Given the description of an element on the screen output the (x, y) to click on. 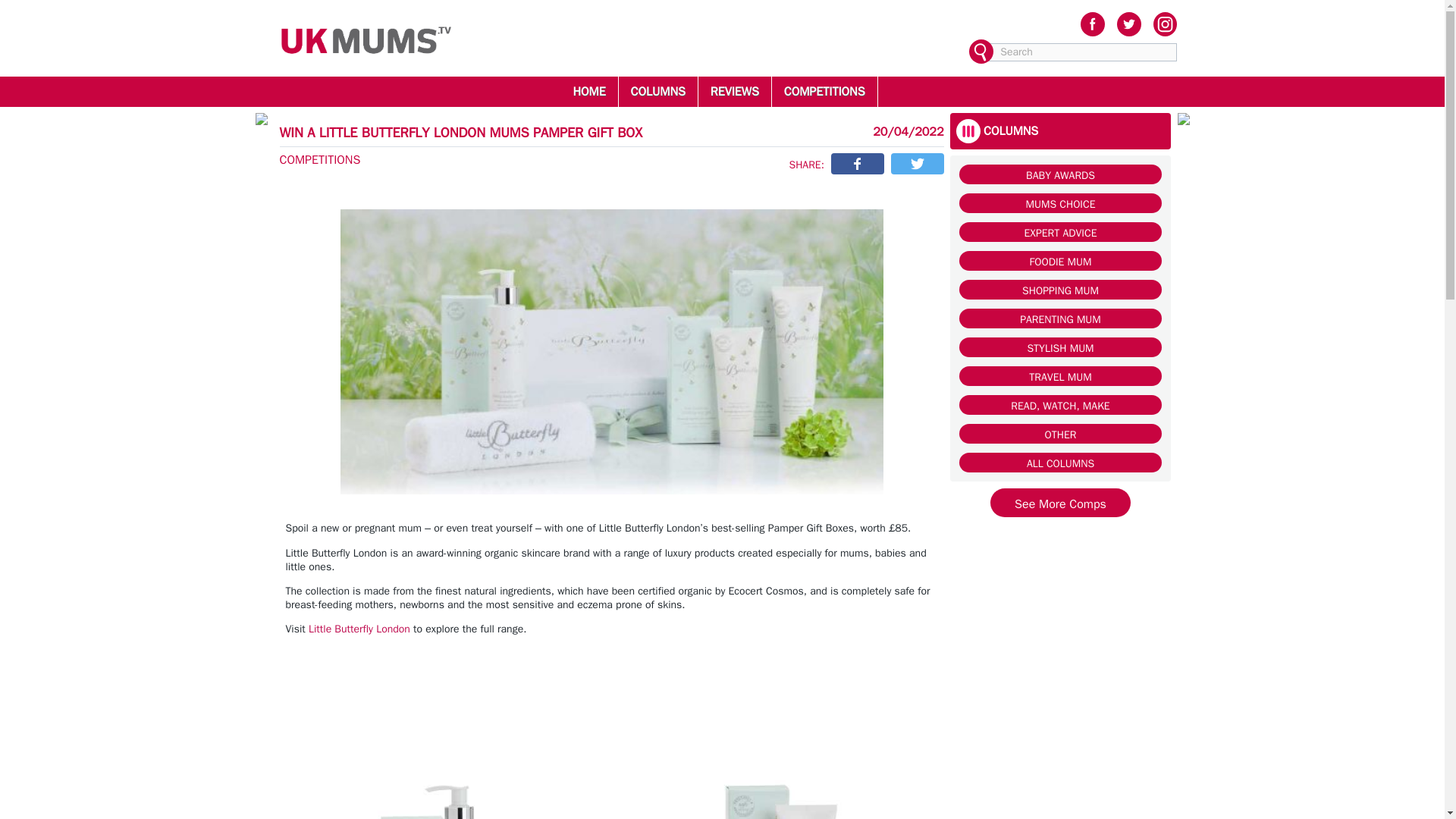
COLUMNS (657, 91)
COMPETITIONS (824, 91)
HOME (588, 91)
REVIEWS (734, 91)
